Given the description of an element on the screen output the (x, y) to click on. 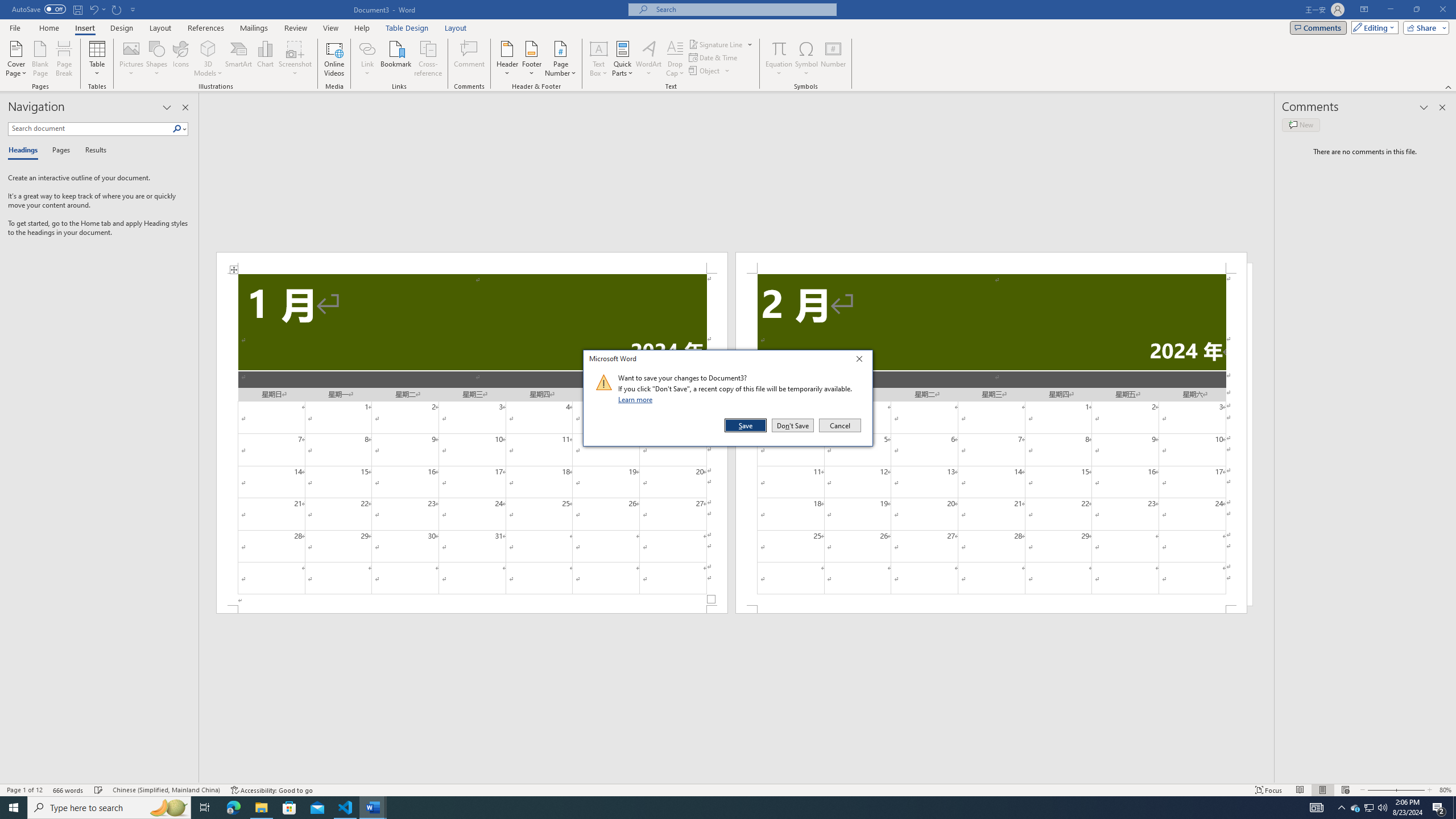
Header -Section 1- (471, 263)
Quick Parts (622, 58)
References (205, 28)
Text Box (1355, 807)
Equation (598, 58)
Results (778, 58)
Word Count 666 words (91, 150)
File Tab (68, 790)
Notification Chevron (15, 27)
Mode (1341, 807)
Start (1372, 27)
Search document (13, 807)
Bookmark... (89, 128)
Symbol (396, 58)
